Given the description of an element on the screen output the (x, y) to click on. 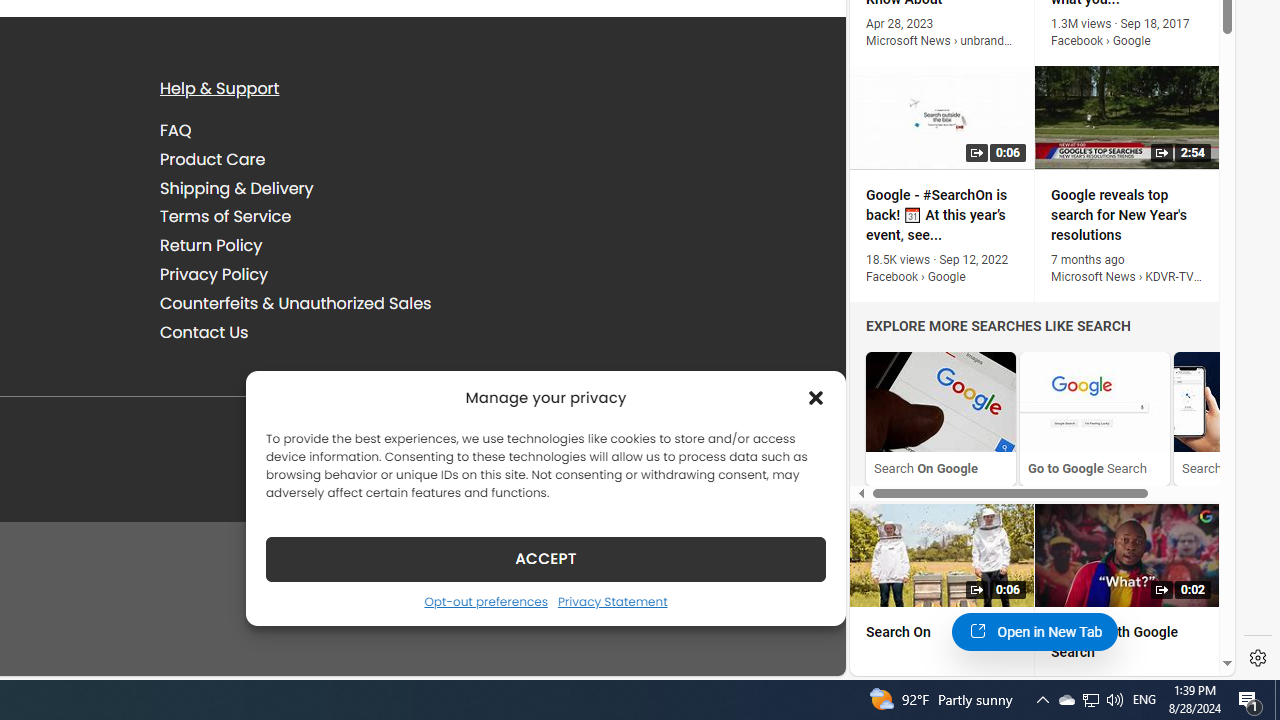
Privacy Policy (325, 274)
FAQ (325, 131)
Privacy Policy (214, 273)
Counterfeits & Unauthorized Sales (325, 303)
Privacy Statement (612, 601)
Counterfeits & Unauthorized Sales (296, 302)
FAQ (176, 130)
Terms of Service (325, 216)
Shipping & Delivery (325, 188)
Settings (1258, 658)
Go to Google Search (1094, 418)
Return Policy (325, 246)
